Given the description of an element on the screen output the (x, y) to click on. 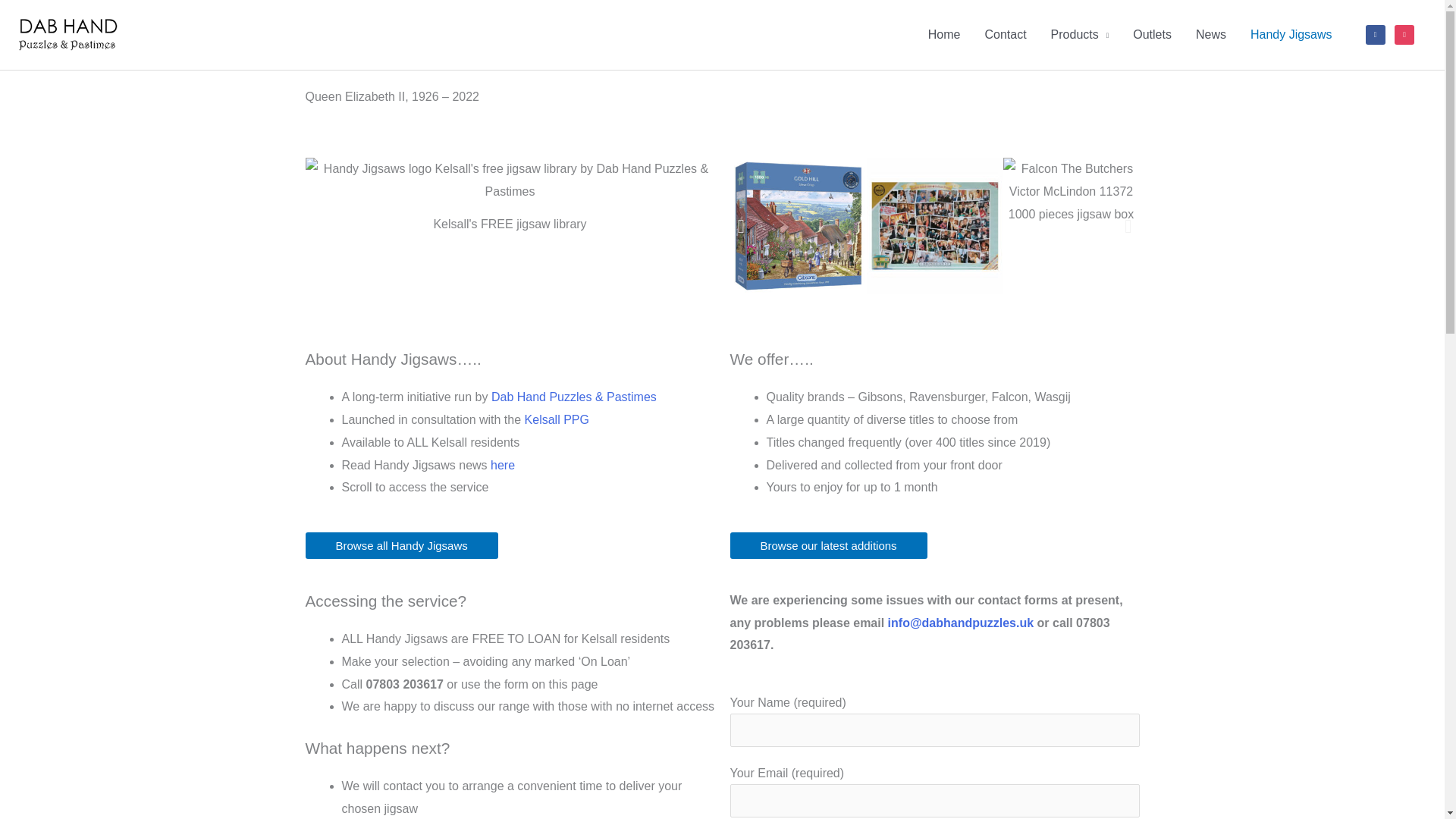
Handy Jigsaws logo (509, 180)
Facebook (1375, 33)
Browse our latest additions (827, 545)
Contact (1005, 34)
Kelsall PPG (556, 419)
Products (1080, 34)
Handy Jigsaws (1291, 34)
Outlets (1152, 34)
Browse all Handy Jigsaws (400, 545)
here (502, 464)
Default Label (1403, 33)
